Given the description of an element on the screen output the (x, y) to click on. 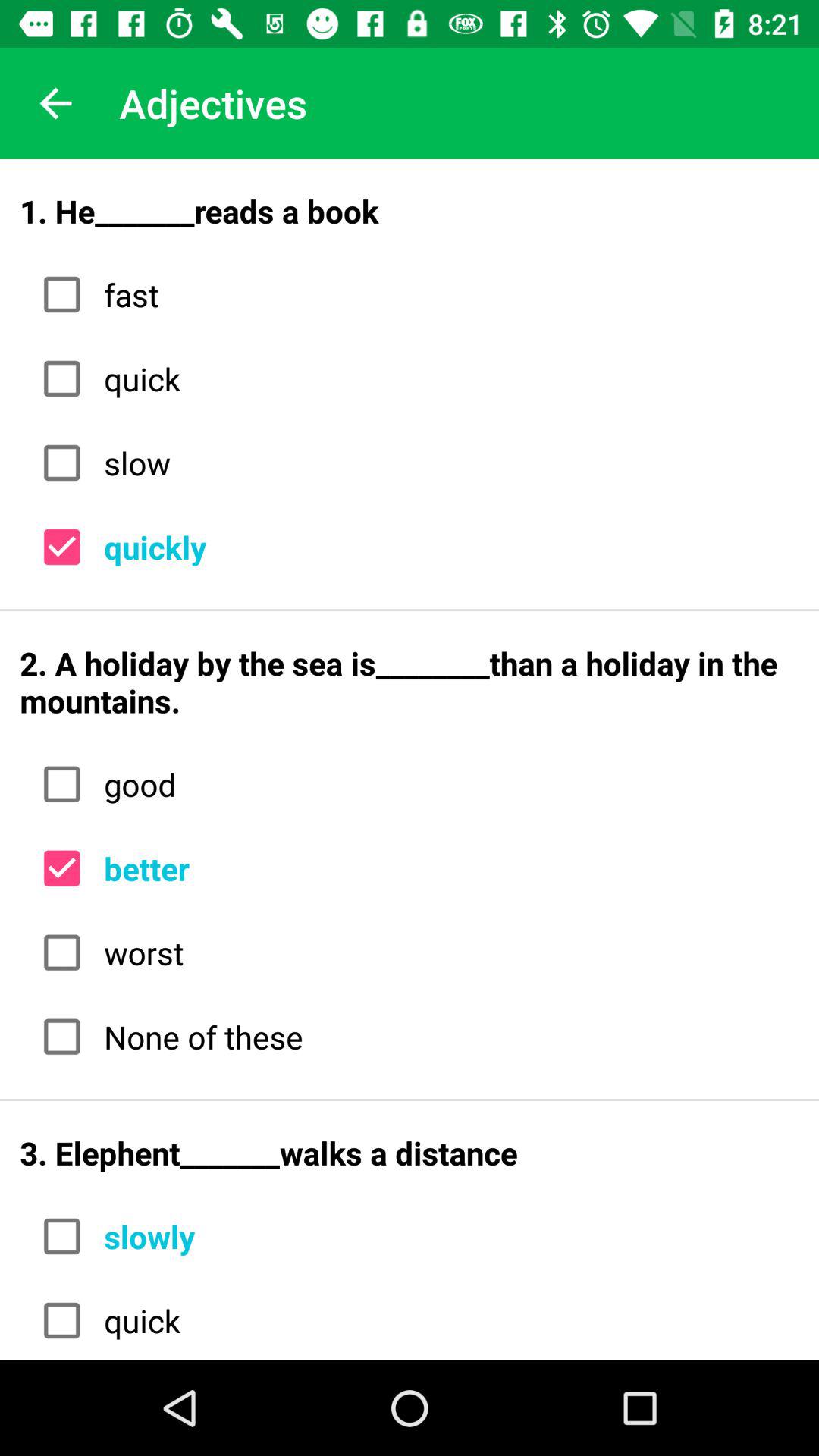
jump until fast item (446, 294)
